Given the description of an element on the screen output the (x, y) to click on. 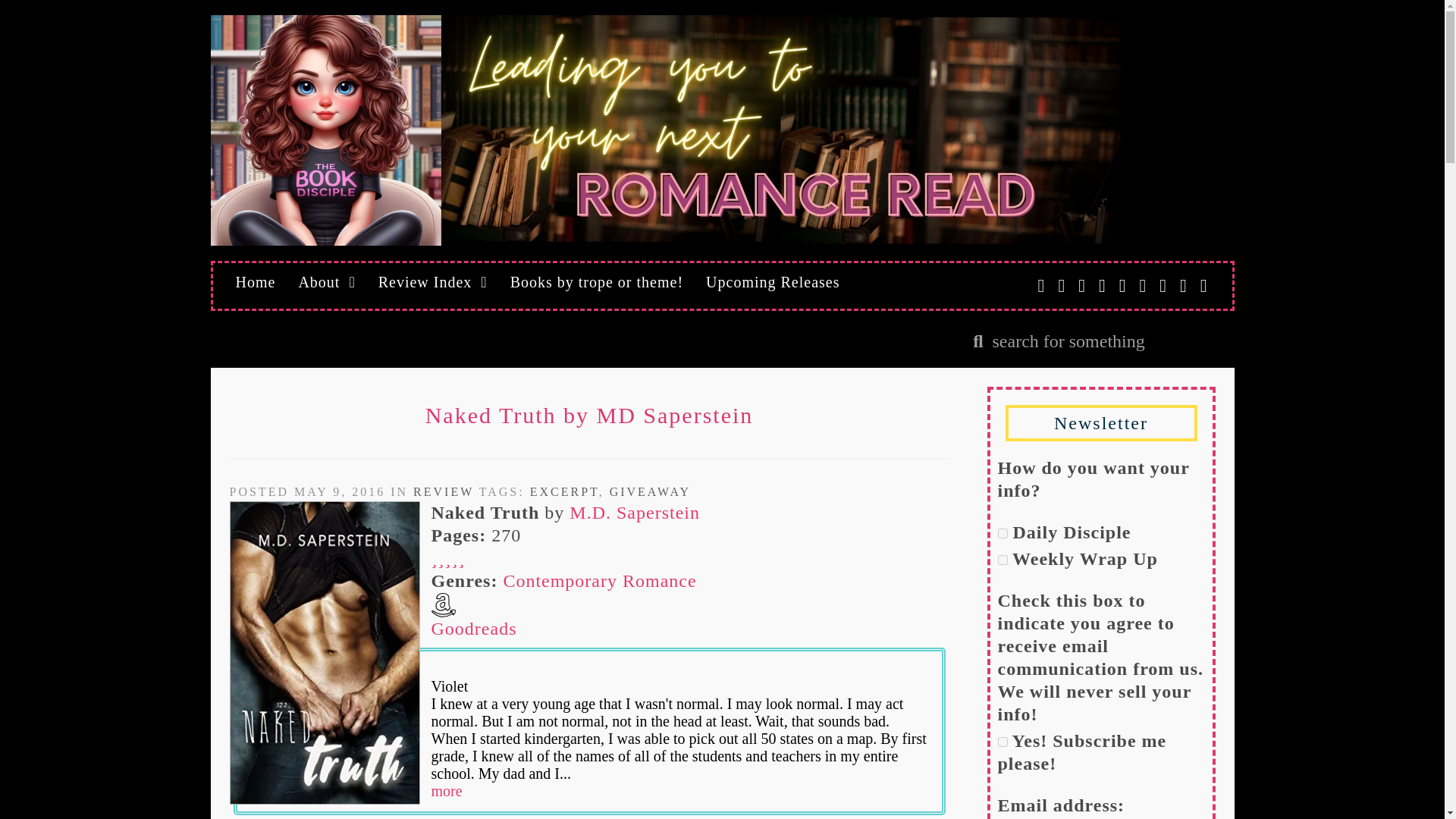
ab7c8b567e (1002, 741)
Upcoming Releases (772, 281)
Contemporary Romance (598, 580)
Review Index   (432, 281)
more (445, 790)
GIVEAWAY (650, 491)
Books by trope or theme! (596, 281)
Goodreads (473, 628)
Home (255, 281)
M.D. Saperstein (634, 512)
View all posts in review (443, 491)
About   (326, 281)
7e4d080c93 (1002, 533)
a8df5c4d04 (1002, 560)
EXCERPT (563, 491)
